Given the description of an element on the screen output the (x, y) to click on. 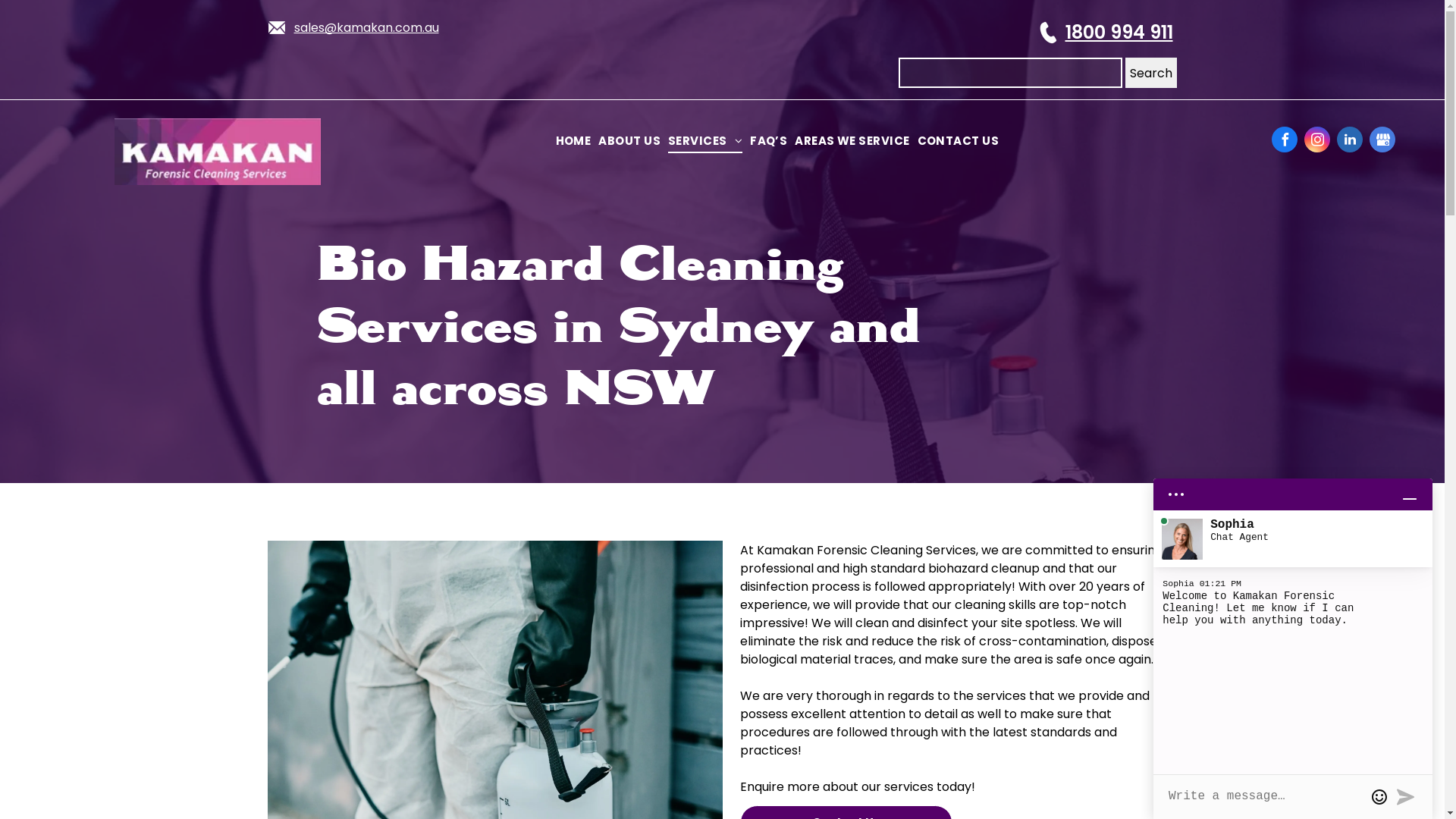
SERVICES Element type: text (705, 140)
AREAS WE SERVICE Element type: text (851, 140)
Search Element type: text (1150, 72)
CONTACT US Element type: text (958, 140)
sales@kamakan.com.au Element type: text (366, 27)
ABOUT US Element type: text (629, 140)
1800 994 911 Element type: text (1118, 31)
Kamakan Forensic Cleaning Element type: hover (217, 151)
HOME Element type: text (573, 140)
